Given the description of an element on the screen output the (x, y) to click on. 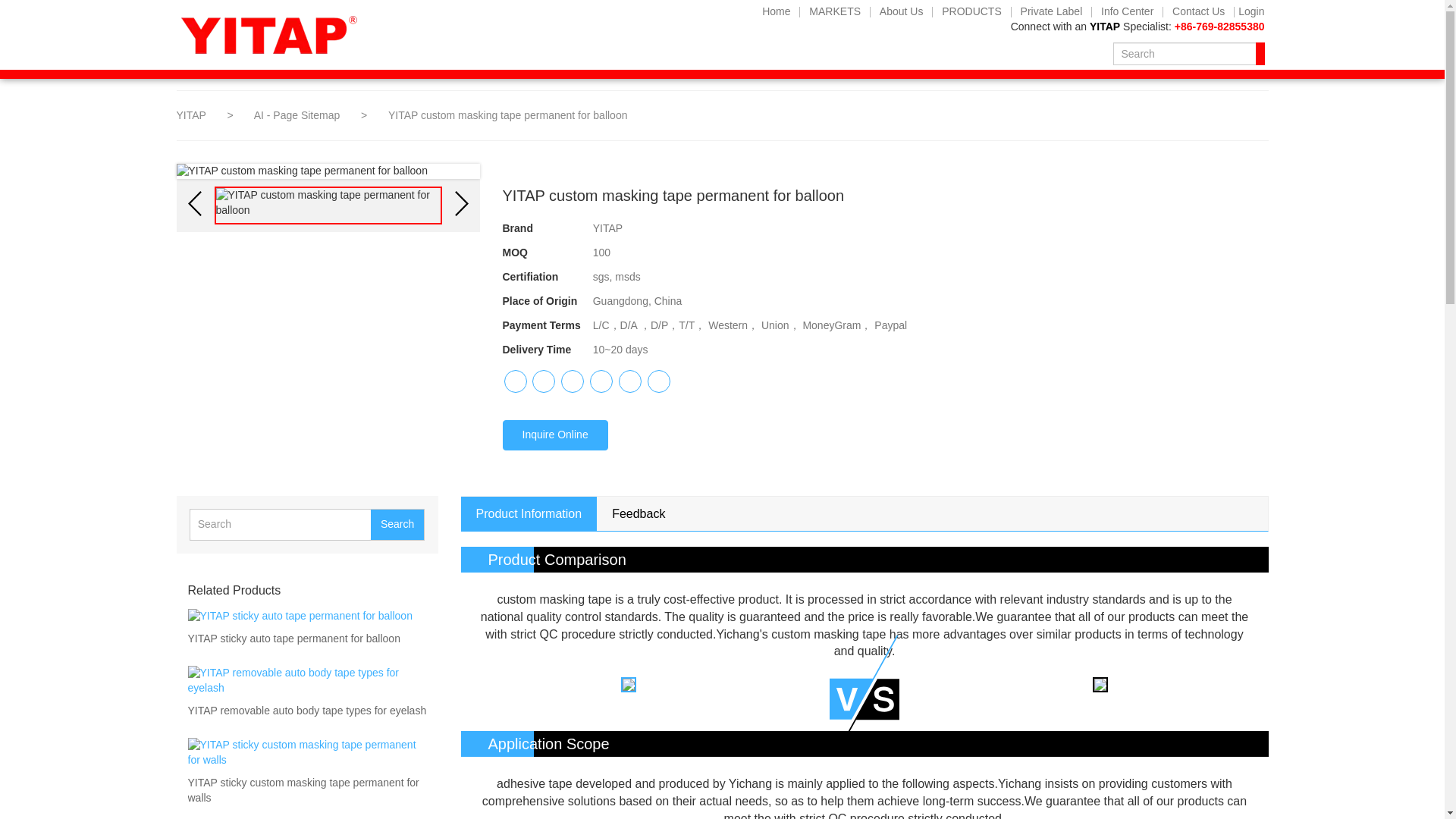
Info Center (1126, 10)
About Us (901, 10)
MARKETS (834, 10)
Login (1248, 11)
YITAP sticky auto tape permanent for balloon (293, 639)
YITAP sticky custom masking tape permanent for walls (306, 790)
Contact Us (1198, 10)
Private Label (1051, 10)
YITAP removable auto body tape types for eyelash (306, 711)
AI - Page Sitemap (298, 114)
